Given the description of an element on the screen output the (x, y) to click on. 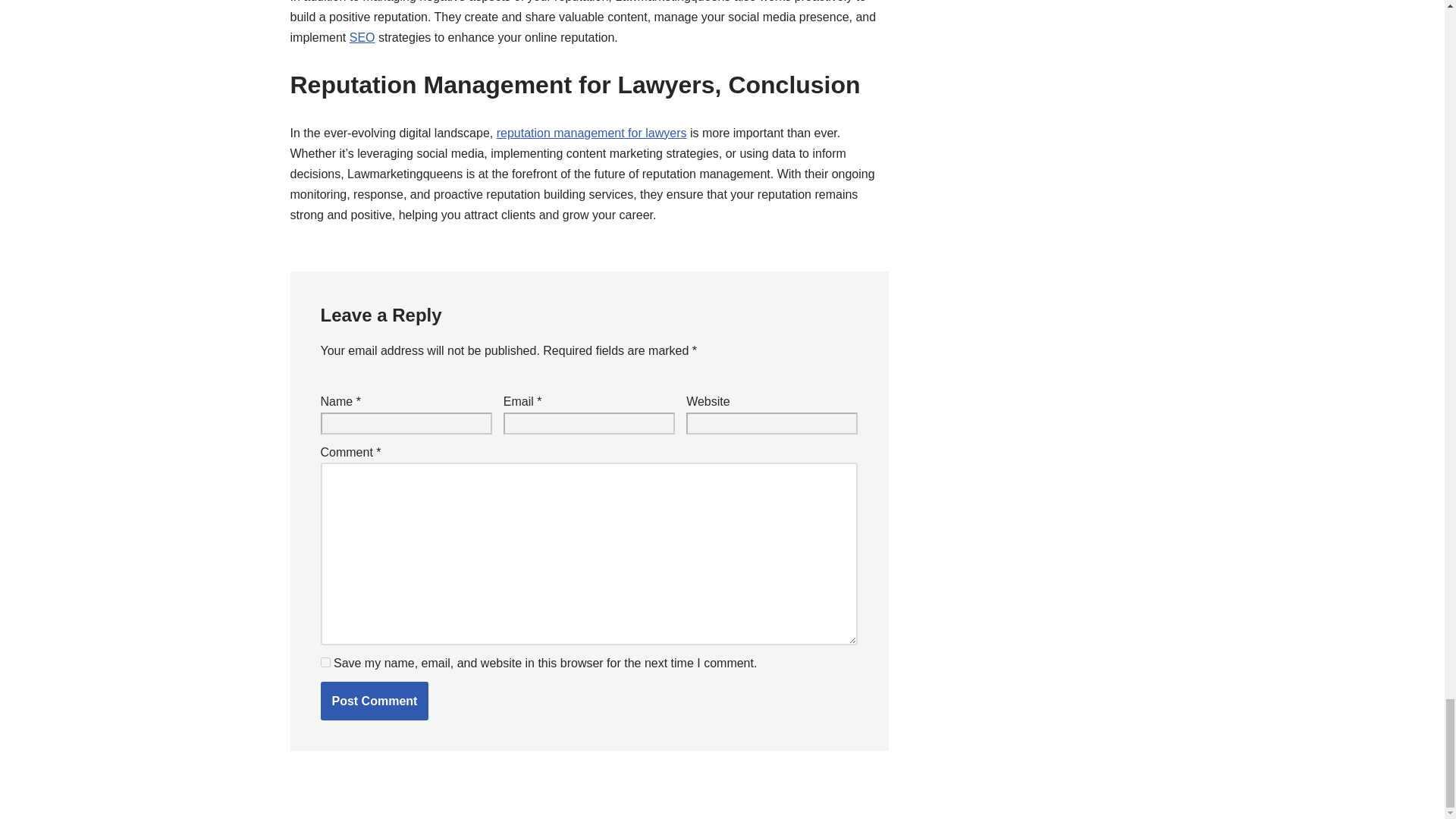
reputation management for lawyers (591, 132)
SEO (362, 37)
Post Comment (374, 701)
yes (325, 662)
Post Comment (374, 701)
